Given the description of an element on the screen output the (x, y) to click on. 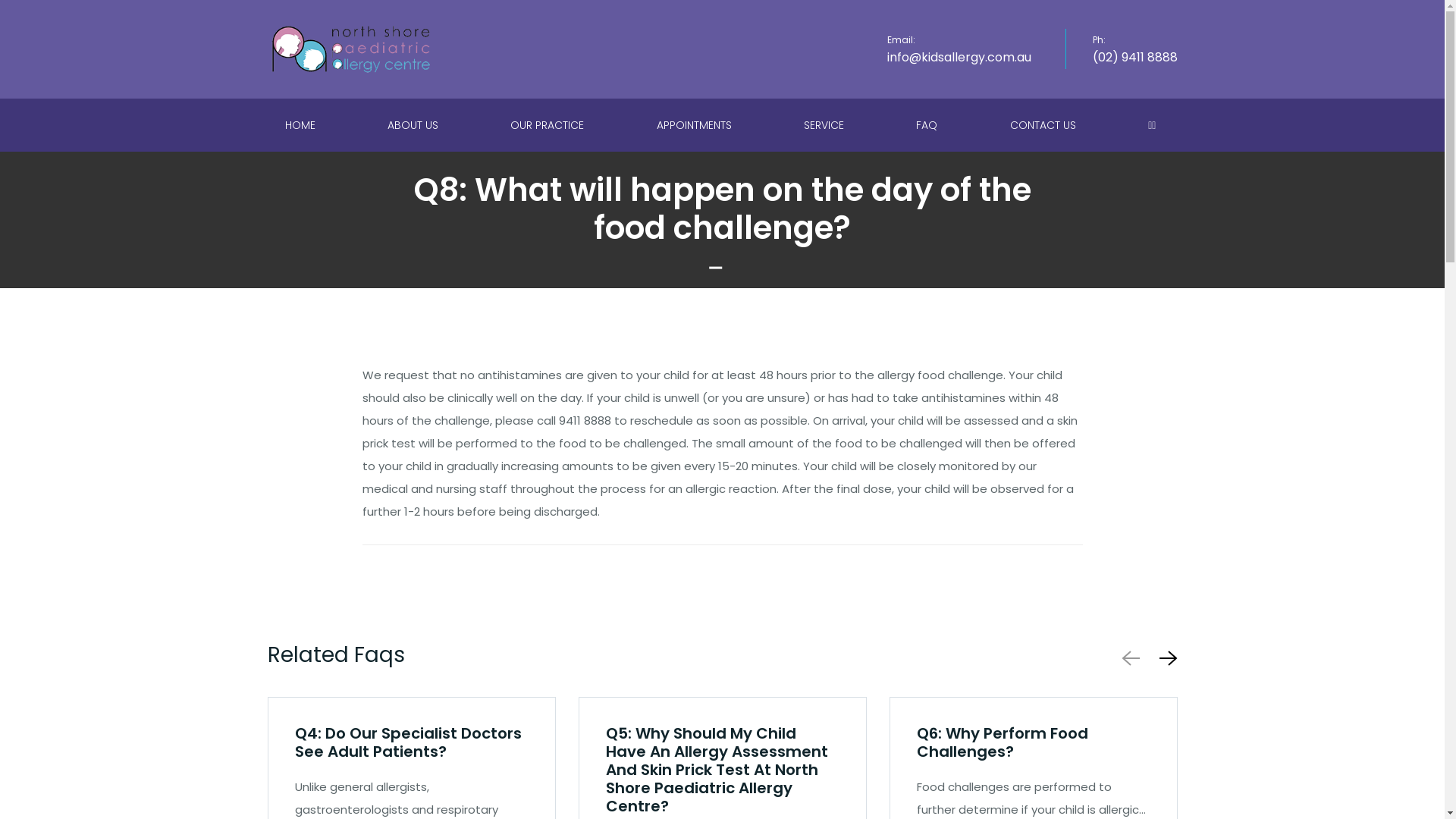
CONTACT US Element type: text (1044, 124)
(02) 9411 8888 Element type: text (1134, 56)
FAQ Element type: text (928, 124)
APPOINTMENTS Element type: text (696, 124)
Q8: What will happen on the day of the food challenge? Element type: text (722, 208)
SERVICE Element type: text (825, 124)
info@kidsallergy.com.au Element type: text (959, 56)
ABOUT US Element type: text (414, 124)
HOME Element type: text (300, 124)
OUR PRACTICE Element type: text (548, 124)
